Given the description of an element on the screen output the (x, y) to click on. 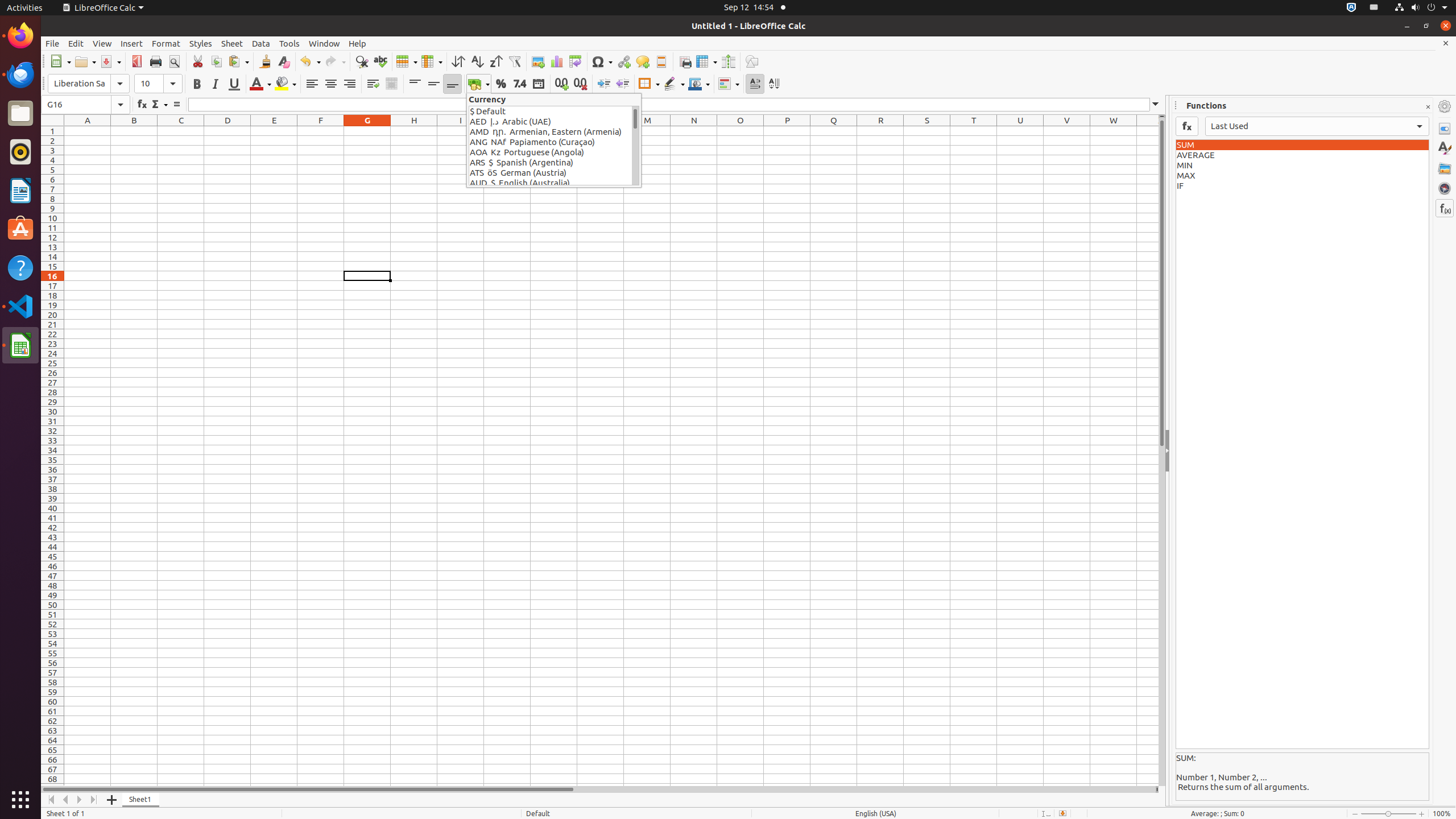
Paste Element type: push-button (237, 61)
B1 Element type: table-cell (133, 130)
$ ‪Default‬ Element type: list-item (550, 111)
Data Element type: menu (260, 43)
Sort Descending Element type: push-button (495, 61)
